Given the description of an element on the screen output the (x, y) to click on. 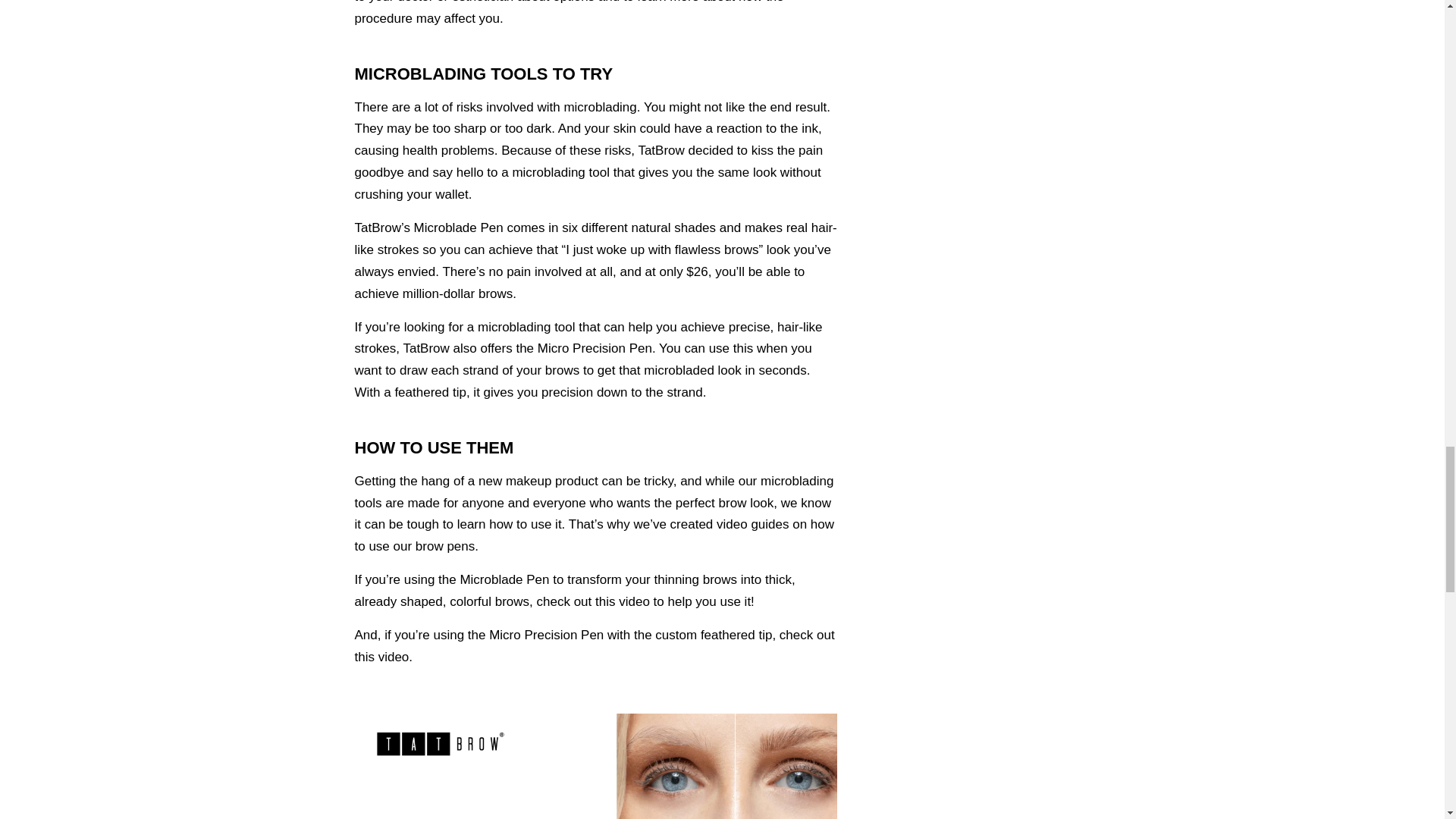
this video (620, 601)
TatBrow (659, 150)
this video (382, 657)
Micro Precision Pen (593, 348)
